Given the description of an element on the screen output the (x, y) to click on. 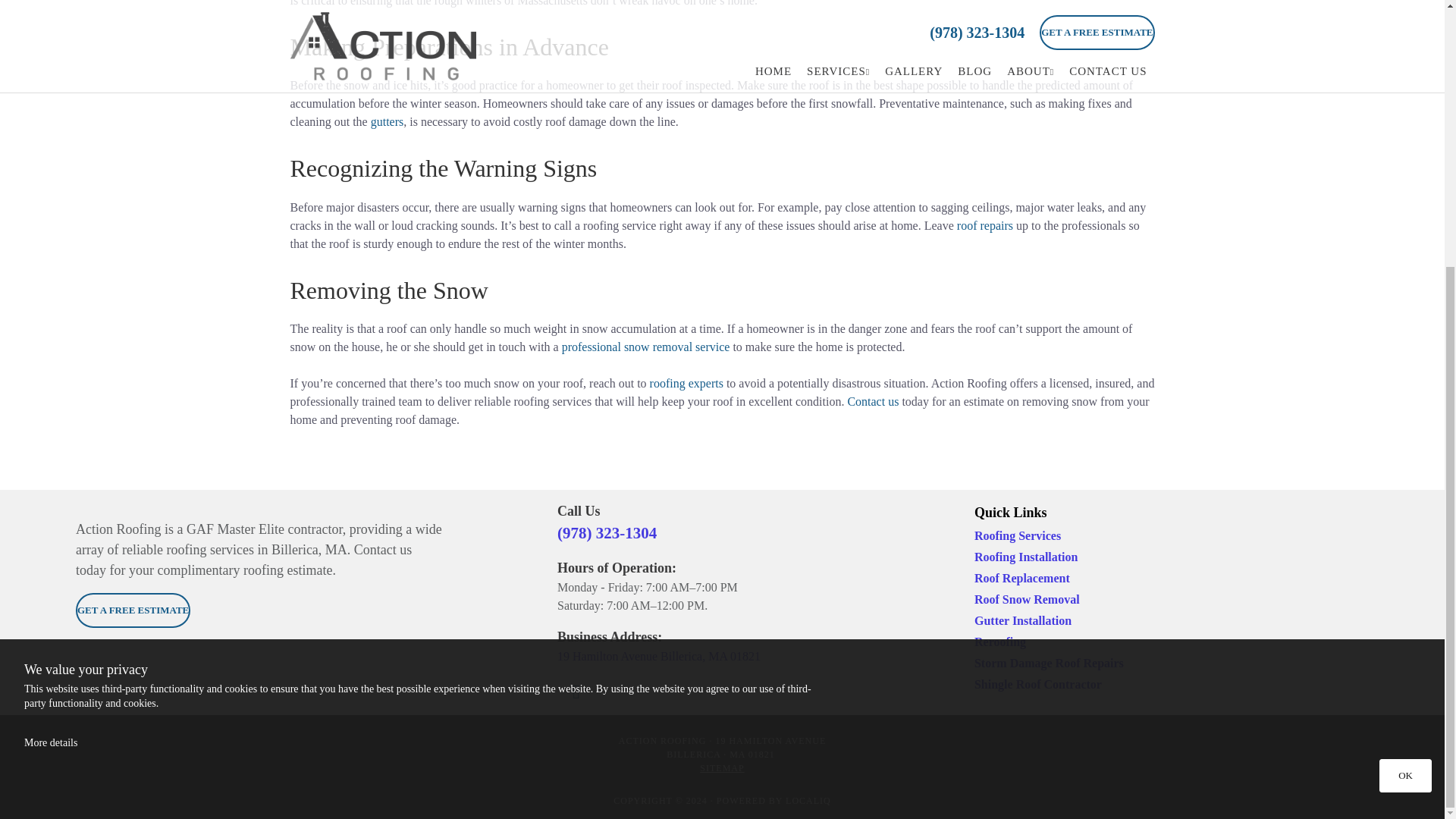
More details (50, 355)
professional snow removal service (646, 346)
OK (1404, 387)
roof repairs (984, 225)
gutters (387, 121)
